Given the description of an element on the screen output the (x, y) to click on. 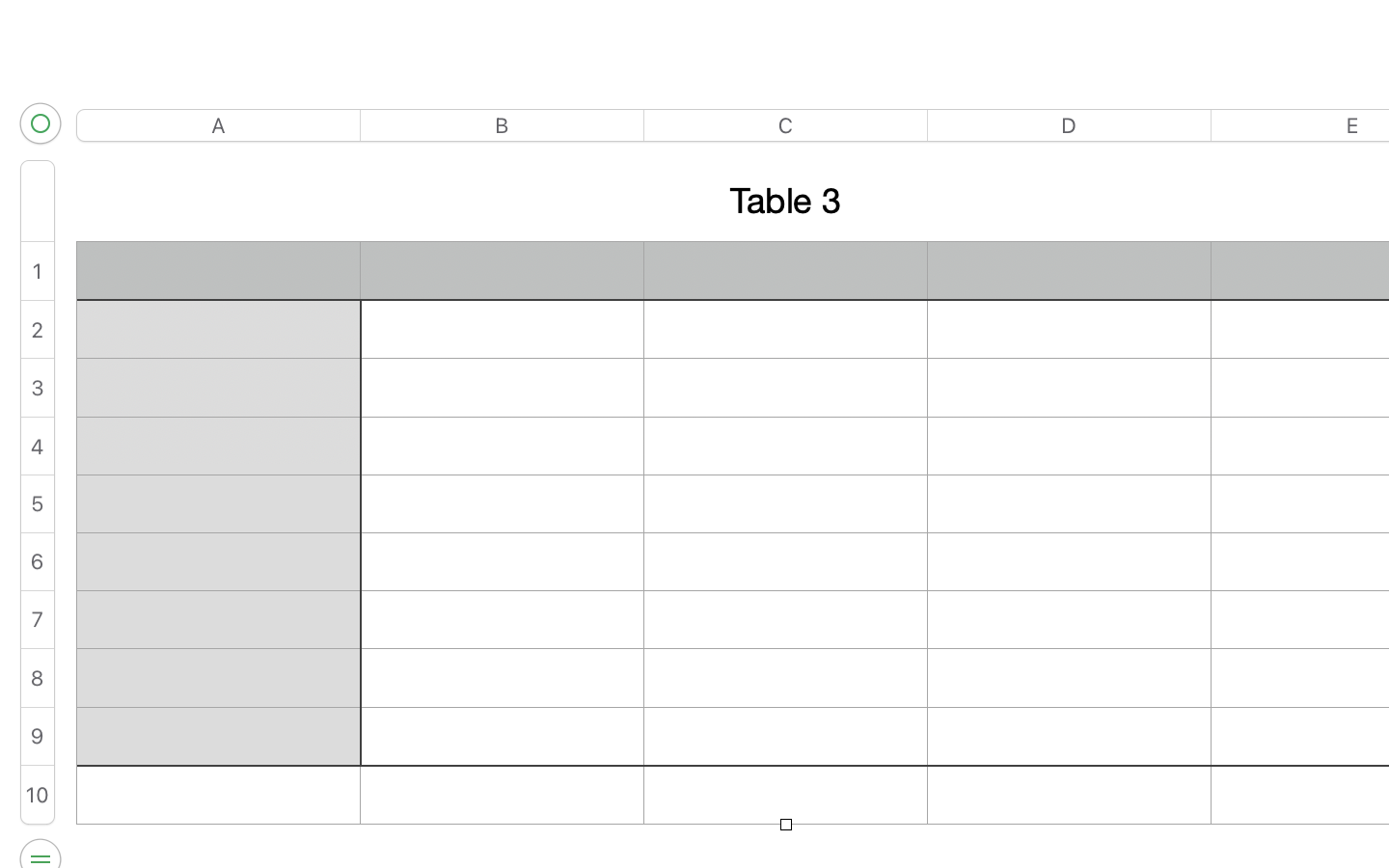
Ornaments Element type: AXStaticText (1182, 38)
